Given the description of an element on the screen output the (x, y) to click on. 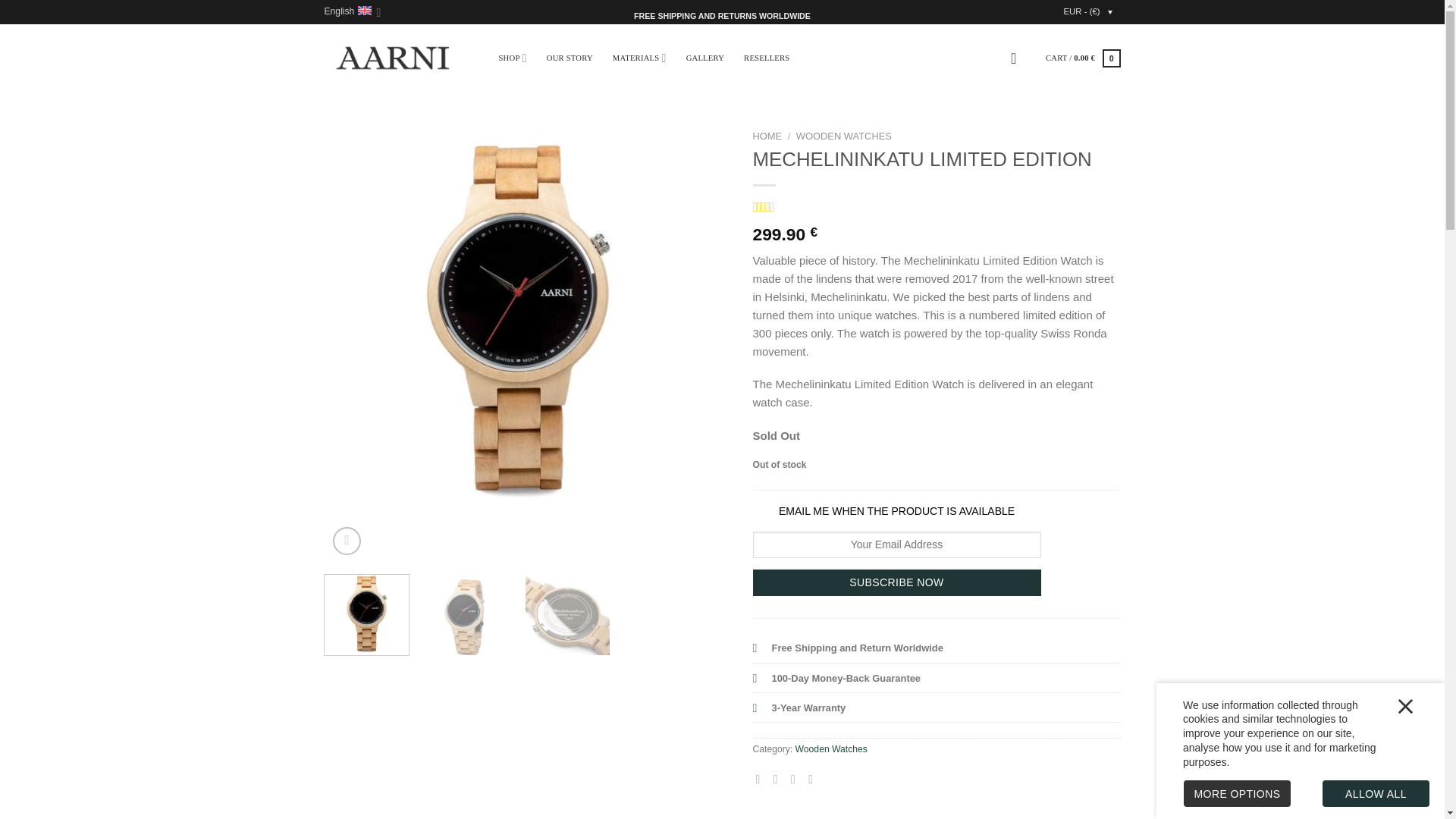
Share on Facebook (761, 779)
AARNI - Puiset kellot ja aurinkolasit (392, 57)
Pin on Pinterest (814, 779)
MATERIALS (639, 57)
Cart (1083, 57)
Zoom (347, 541)
OUR STORY (569, 57)
Email to a Friend (796, 779)
Share on Twitter (779, 779)
Subscribe Now (896, 583)
English (352, 11)
